Given the description of an element on the screen output the (x, y) to click on. 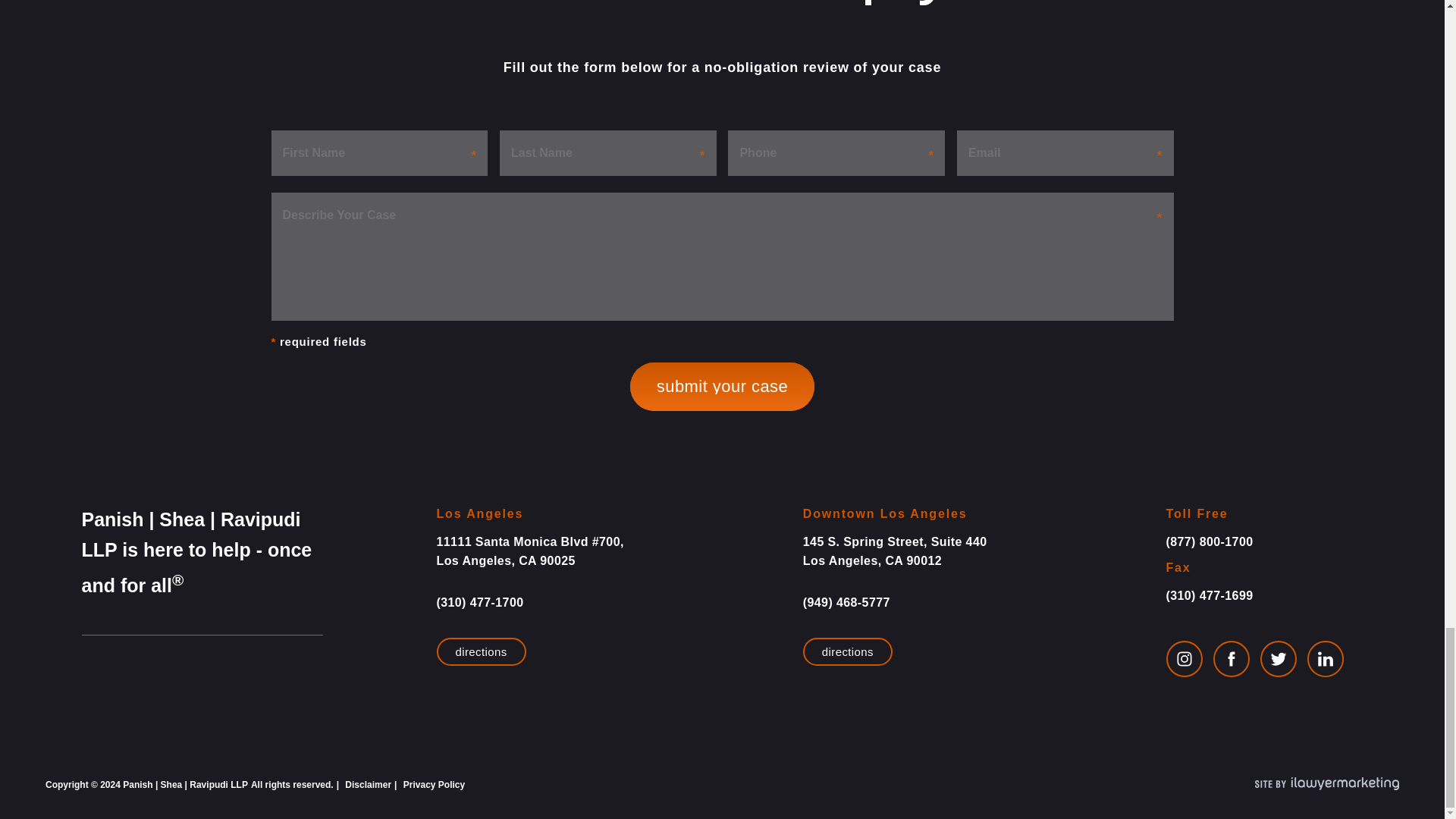
Submit Your Case (722, 386)
